Given the description of an element on the screen output the (x, y) to click on. 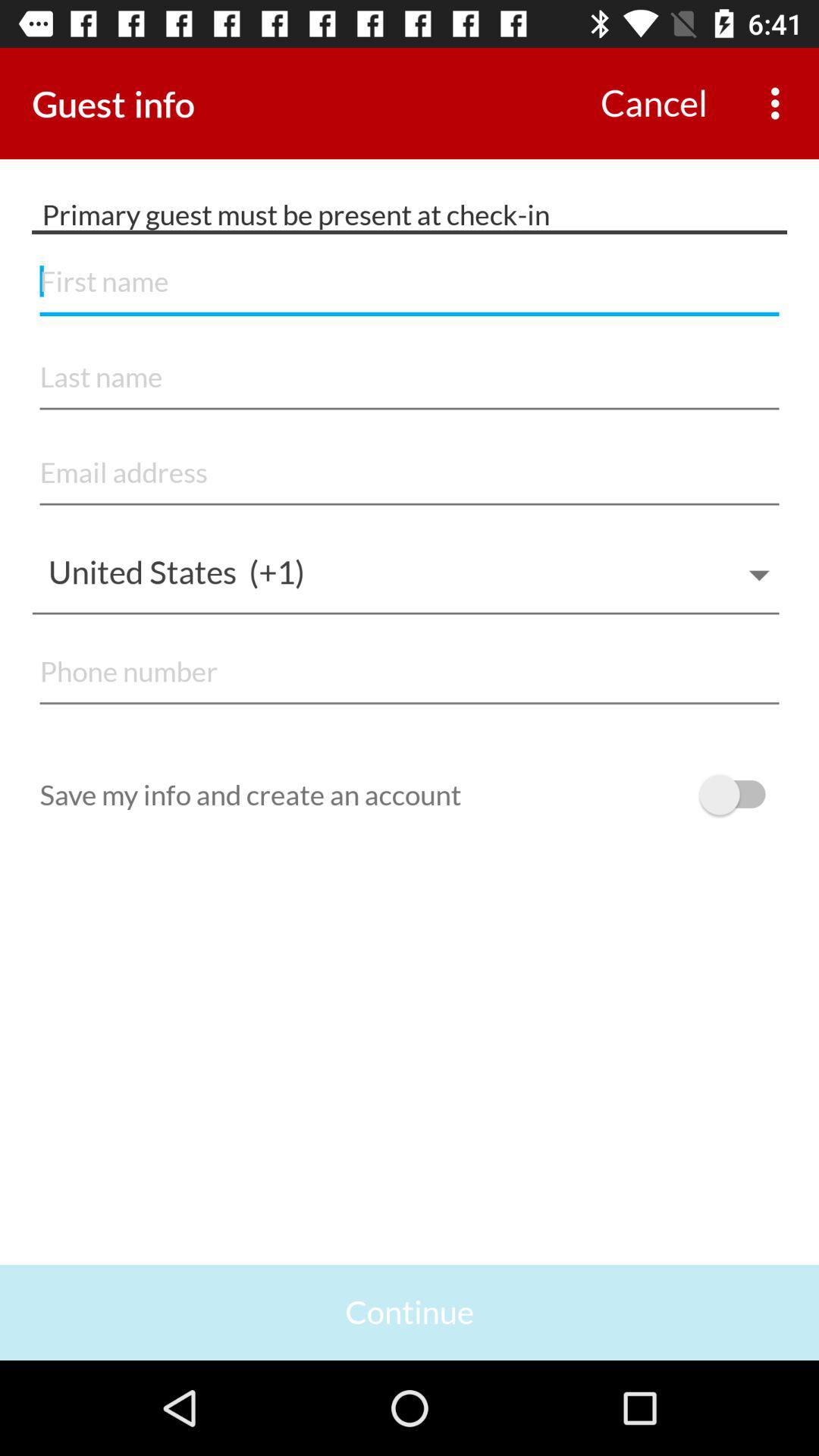
enter email adress (409, 472)
